Given the description of an element on the screen output the (x, y) to click on. 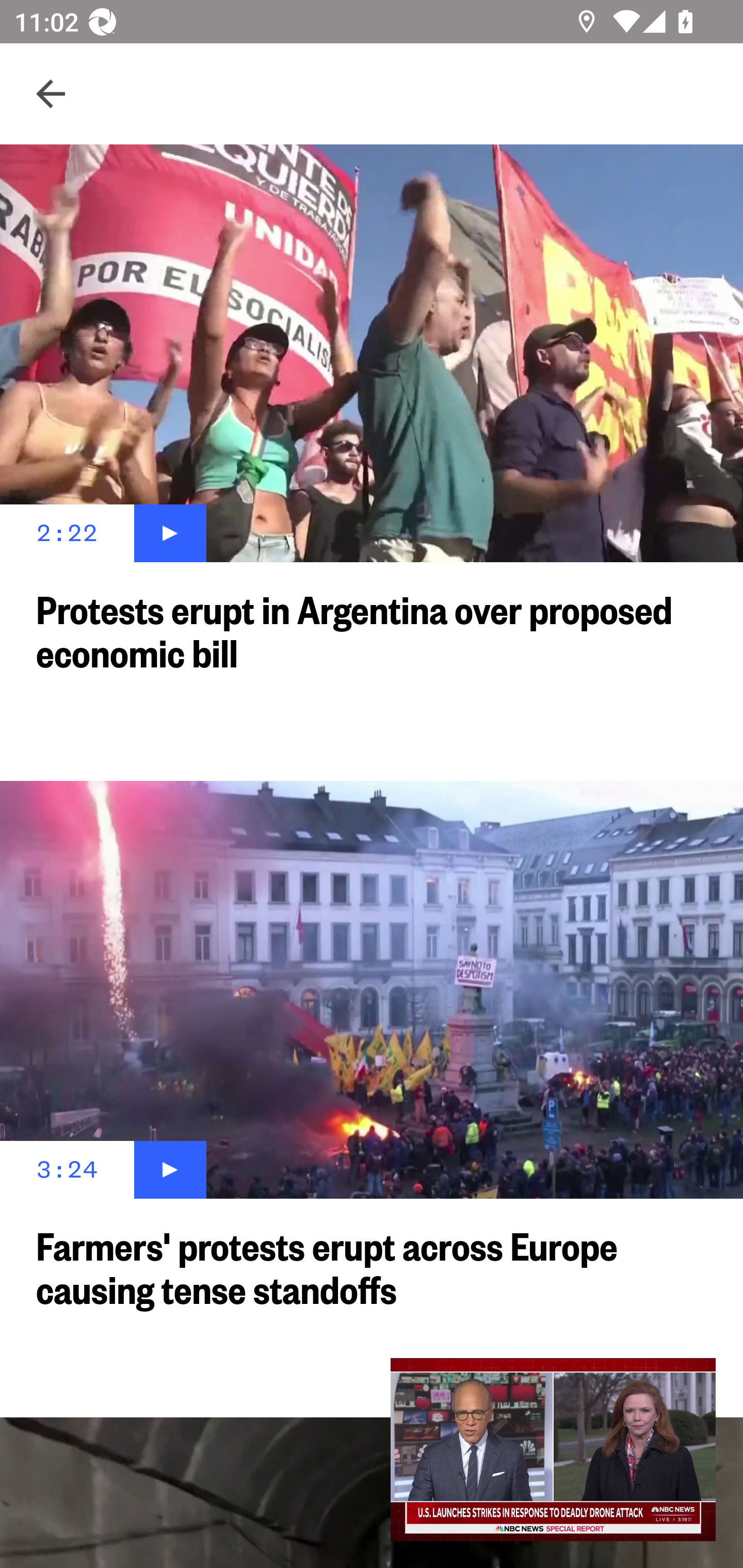
Navigate up (50, 93)
